Given the description of an element on the screen output the (x, y) to click on. 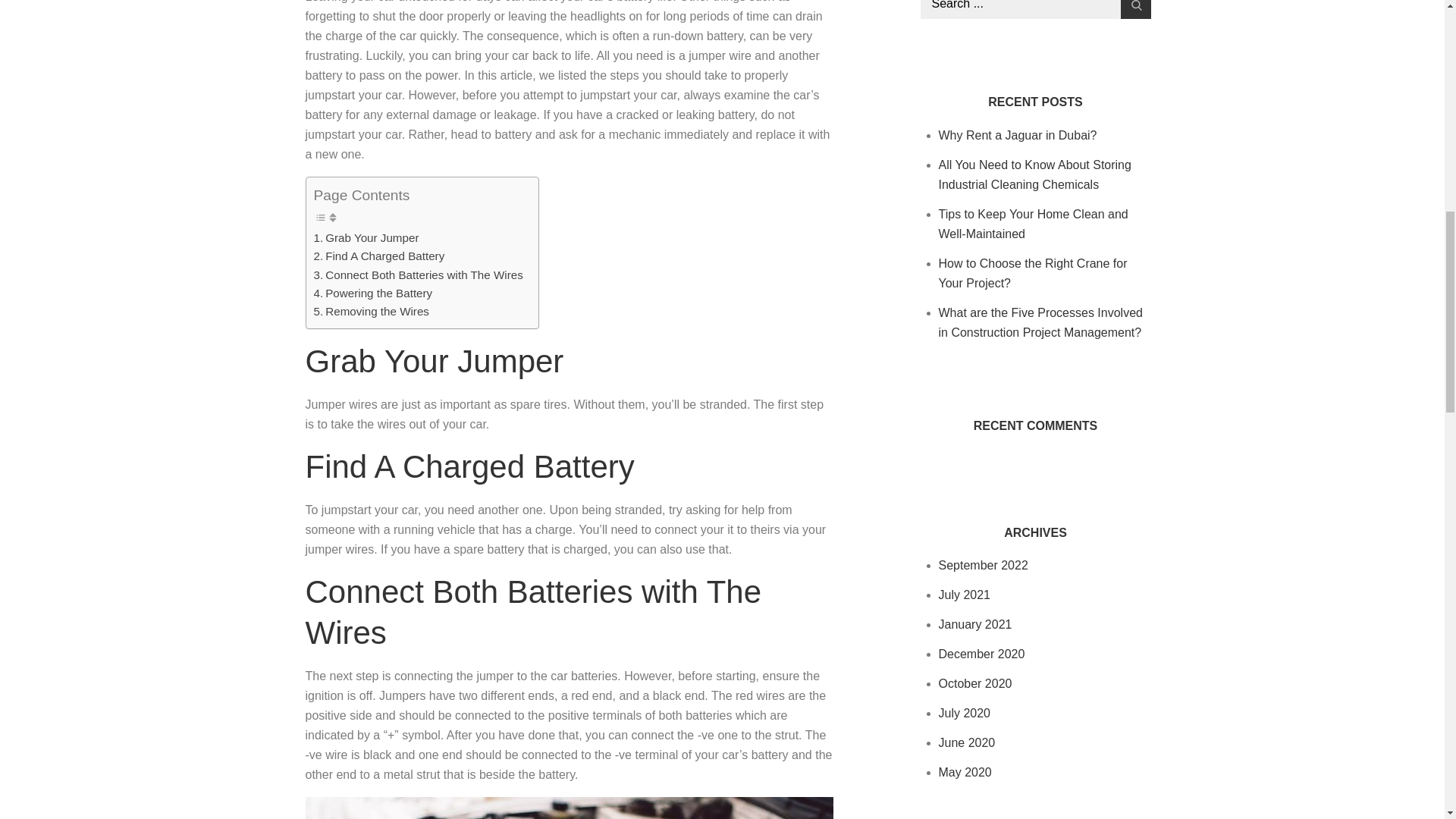
Grab Your Jumper (366, 238)
January 2021 (975, 624)
December 2020 (982, 653)
May 2020 (965, 771)
Search for: (1035, 9)
Powering the Battery (373, 293)
Removing the Wires (371, 311)
Search (1136, 9)
Powering the Battery (373, 293)
Why Rent a Jaguar in Dubai? (1018, 134)
October 2020 (975, 683)
Removing the Wires (371, 311)
Find A Charged Battery (379, 256)
